Given the description of an element on the screen output the (x, y) to click on. 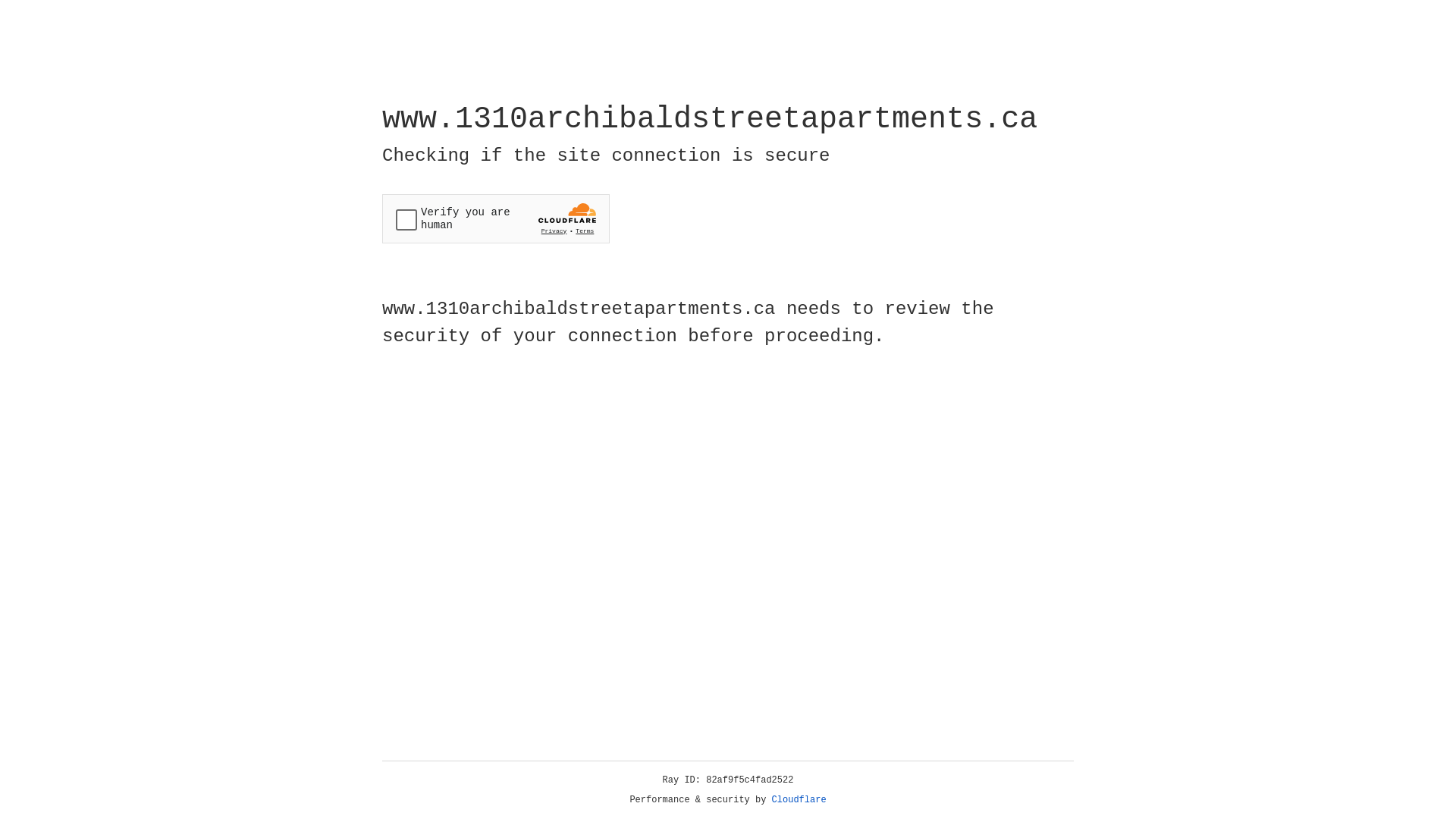
Cloudflare Element type: text (798, 799)
Widget containing a Cloudflare security challenge Element type: hover (495, 218)
